Given the description of an element on the screen output the (x, y) to click on. 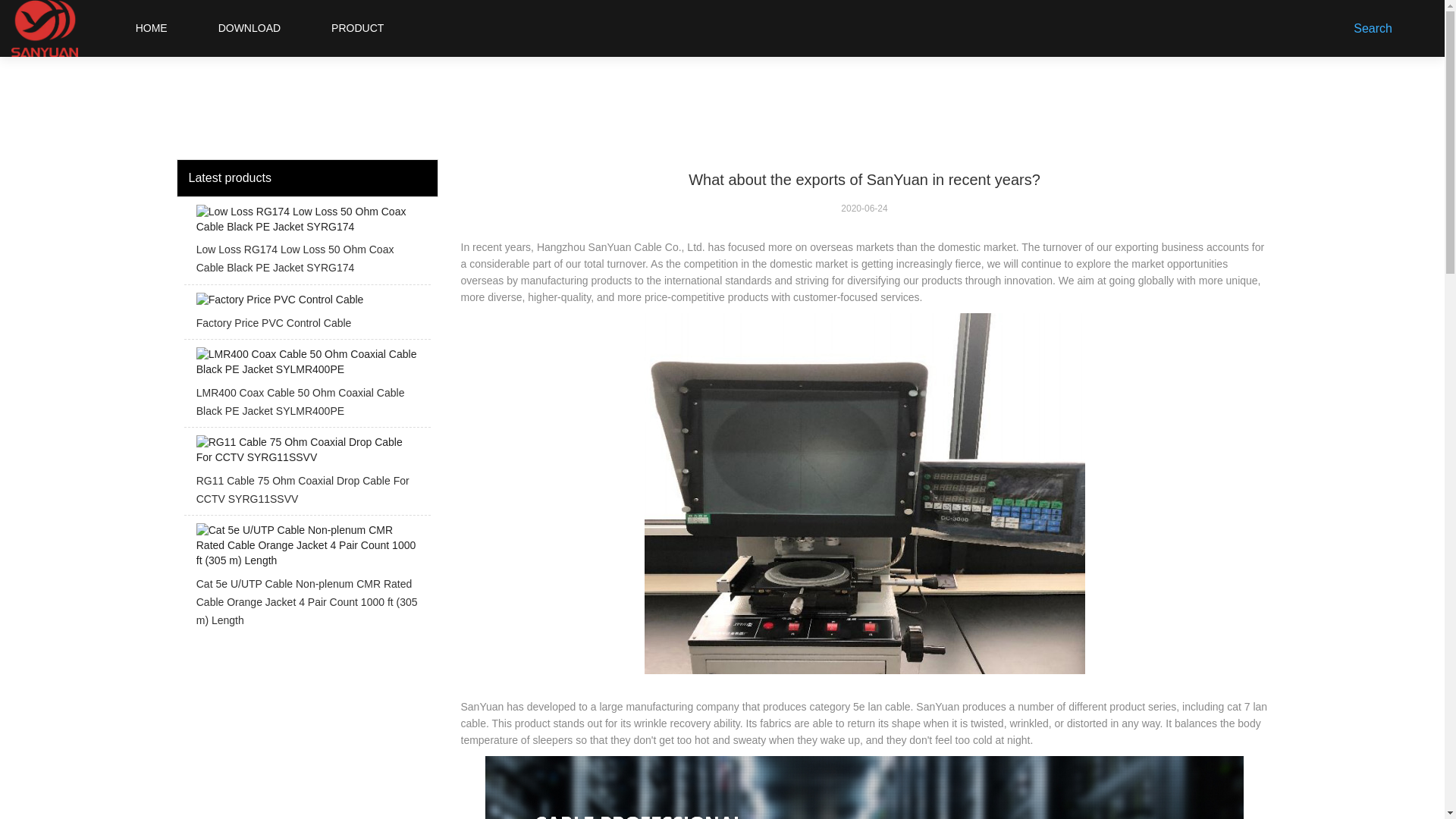
DOWNLOAD (249, 28)
RG11 Cable 75 Ohm Coaxial Drop Cable For CCTV SYRG11SSVV (306, 474)
Factory Price PVC Control Cable (306, 315)
HOME (151, 28)
PRODUCT (357, 28)
Search   (1375, 28)
